Given the description of an element on the screen output the (x, y) to click on. 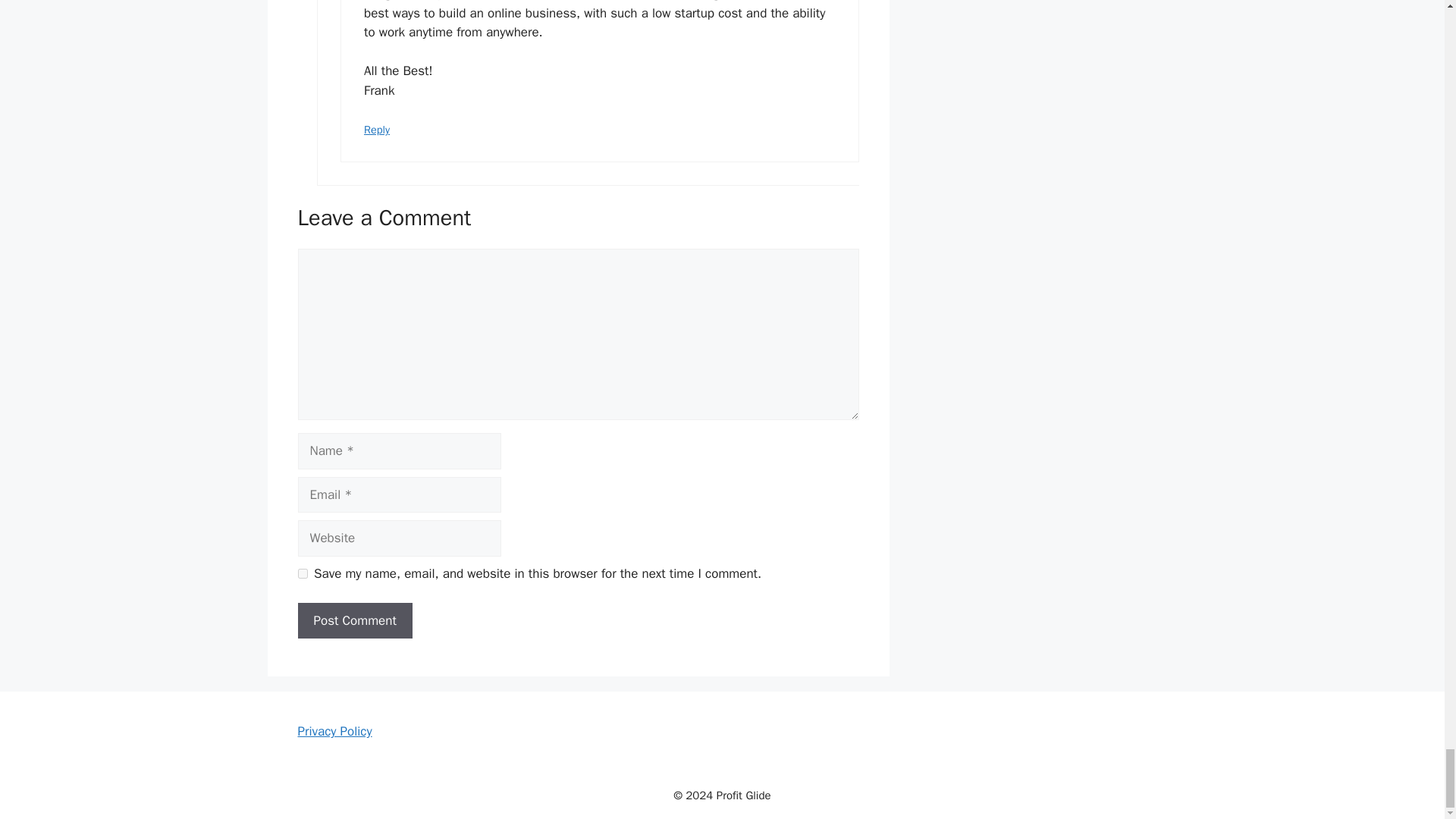
yes (302, 573)
Post Comment (354, 620)
